Given the description of an element on the screen output the (x, y) to click on. 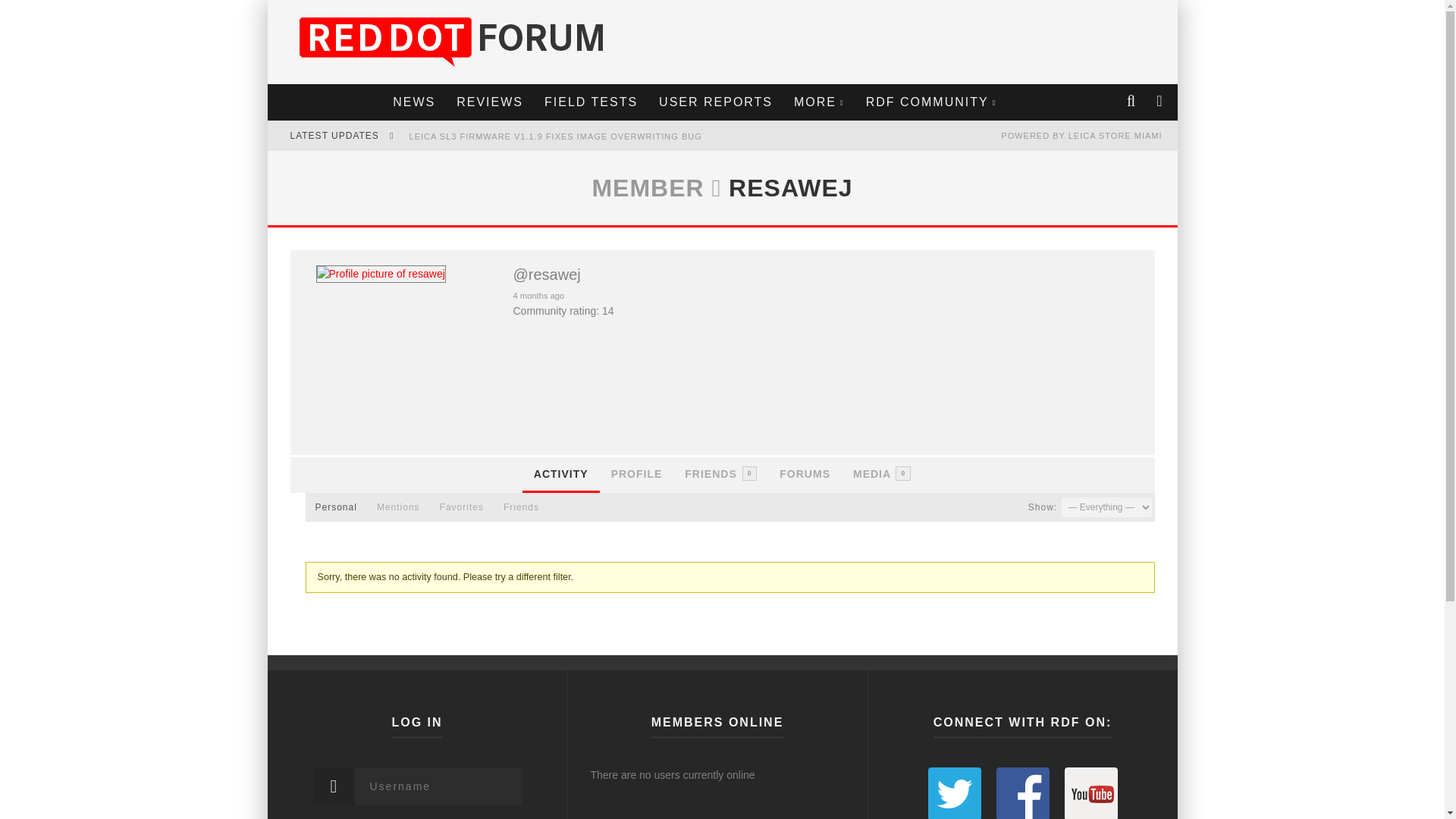
NEWS (413, 102)
Leica SL3 Firmware v1.1.9 Fixes Image Overwriting Bug (555, 135)
Log In (721, 458)
Register (721, 475)
